Given the description of an element on the screen output the (x, y) to click on. 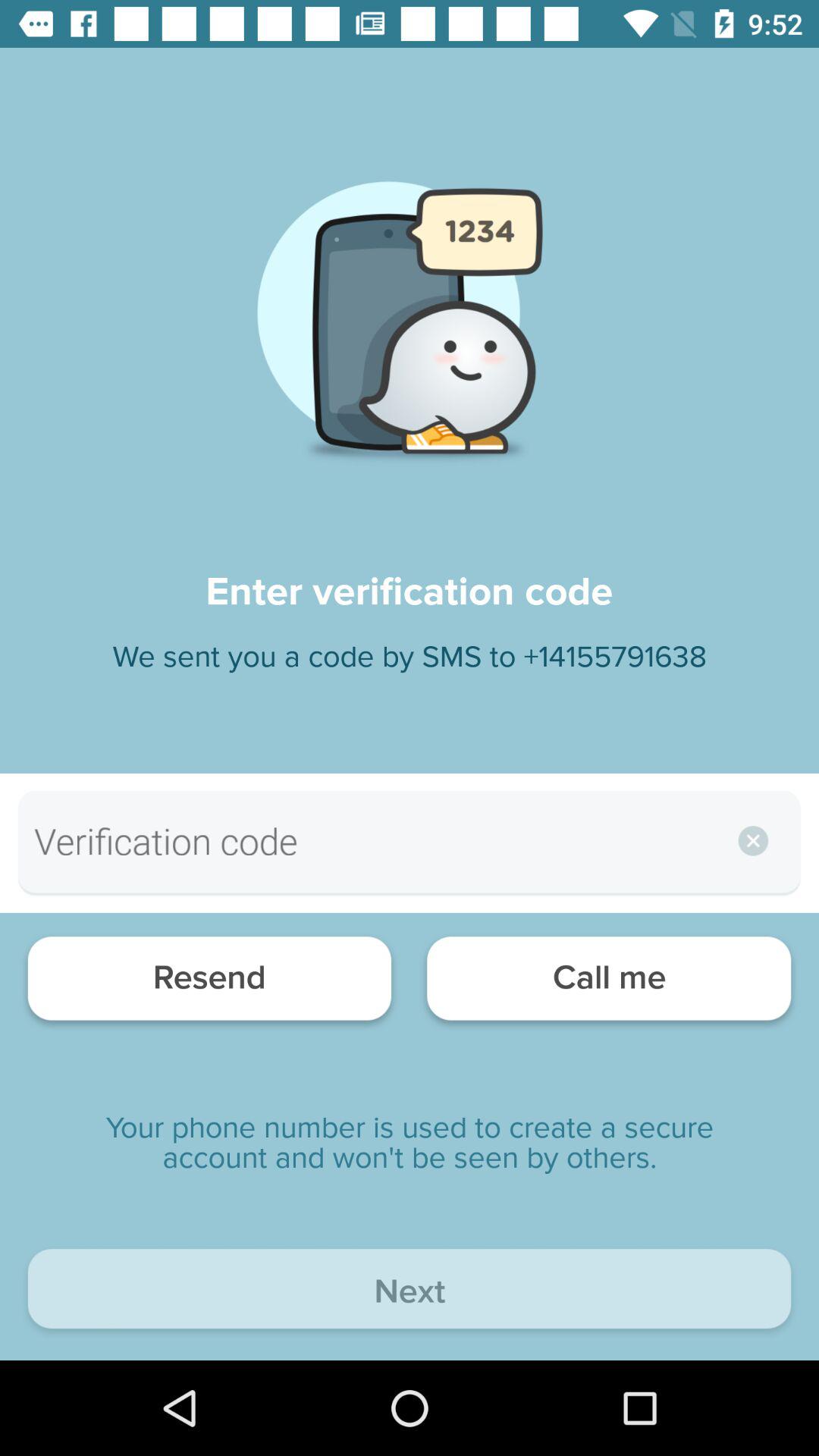
tap item above your phone number icon (609, 982)
